Given the description of an element on the screen output the (x, y) to click on. 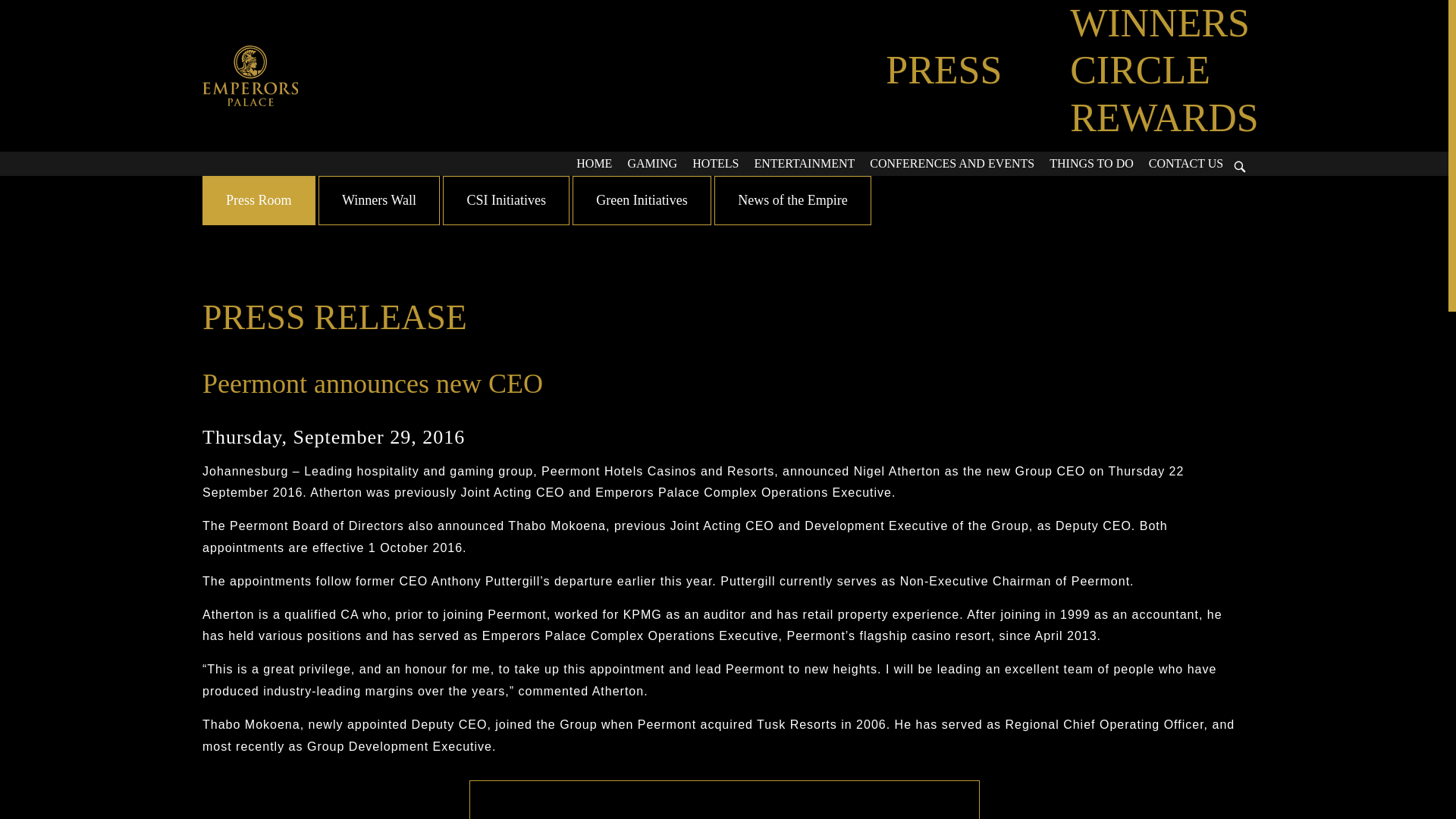
HOTELS (714, 163)
GAMING (652, 163)
ENTERTAINMENT (803, 163)
HOME (594, 163)
Emperors Palace Logo Gold (250, 75)
WINNERS CIRCLE REWARDS (1163, 70)
PRESS (943, 69)
